Given the description of an element on the screen output the (x, y) to click on. 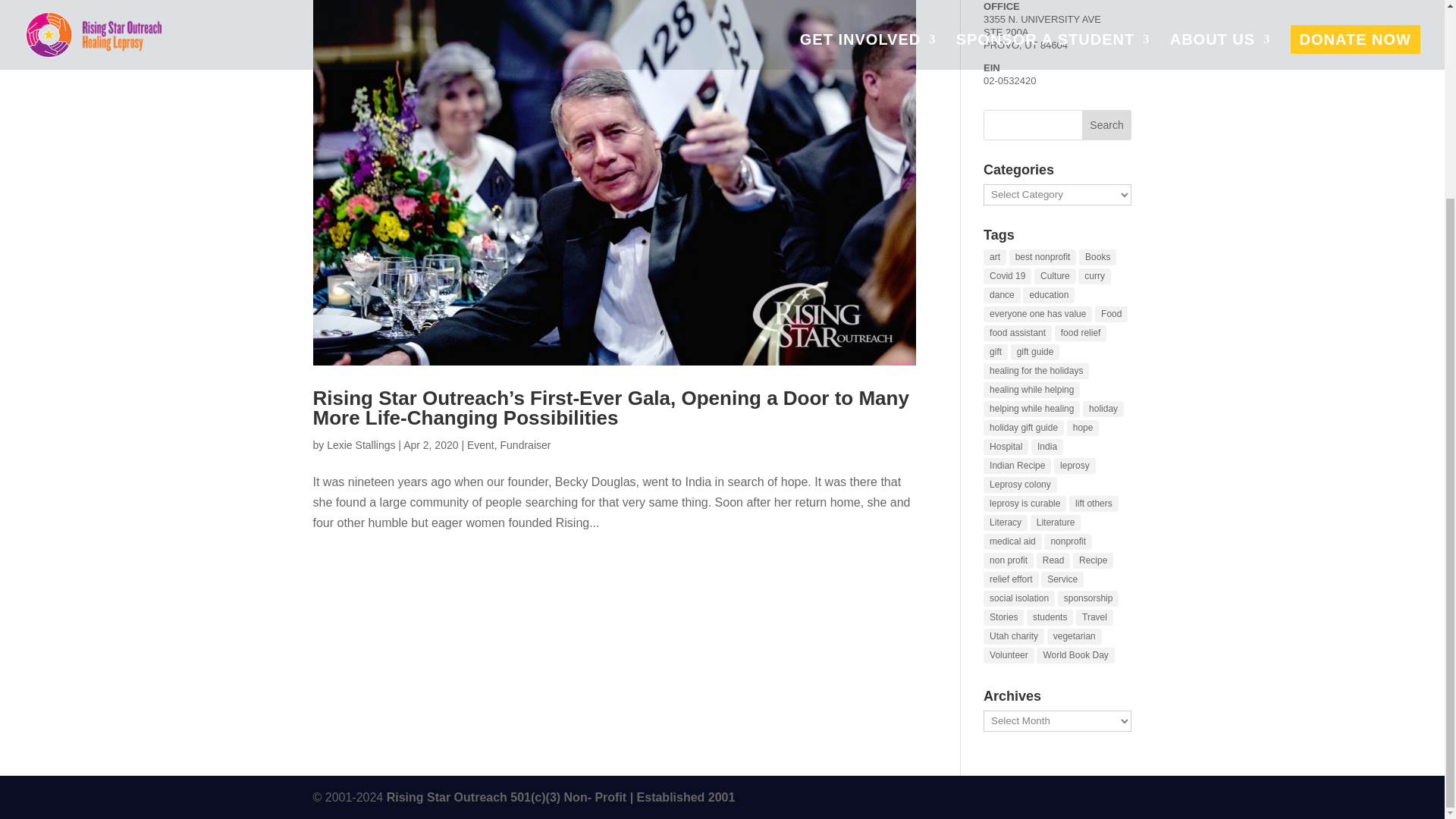
Search (1106, 124)
Posts by Lexie Stallings (360, 444)
RISING STAR OUTREACH (561, 797)
